Given the description of an element on the screen output the (x, y) to click on. 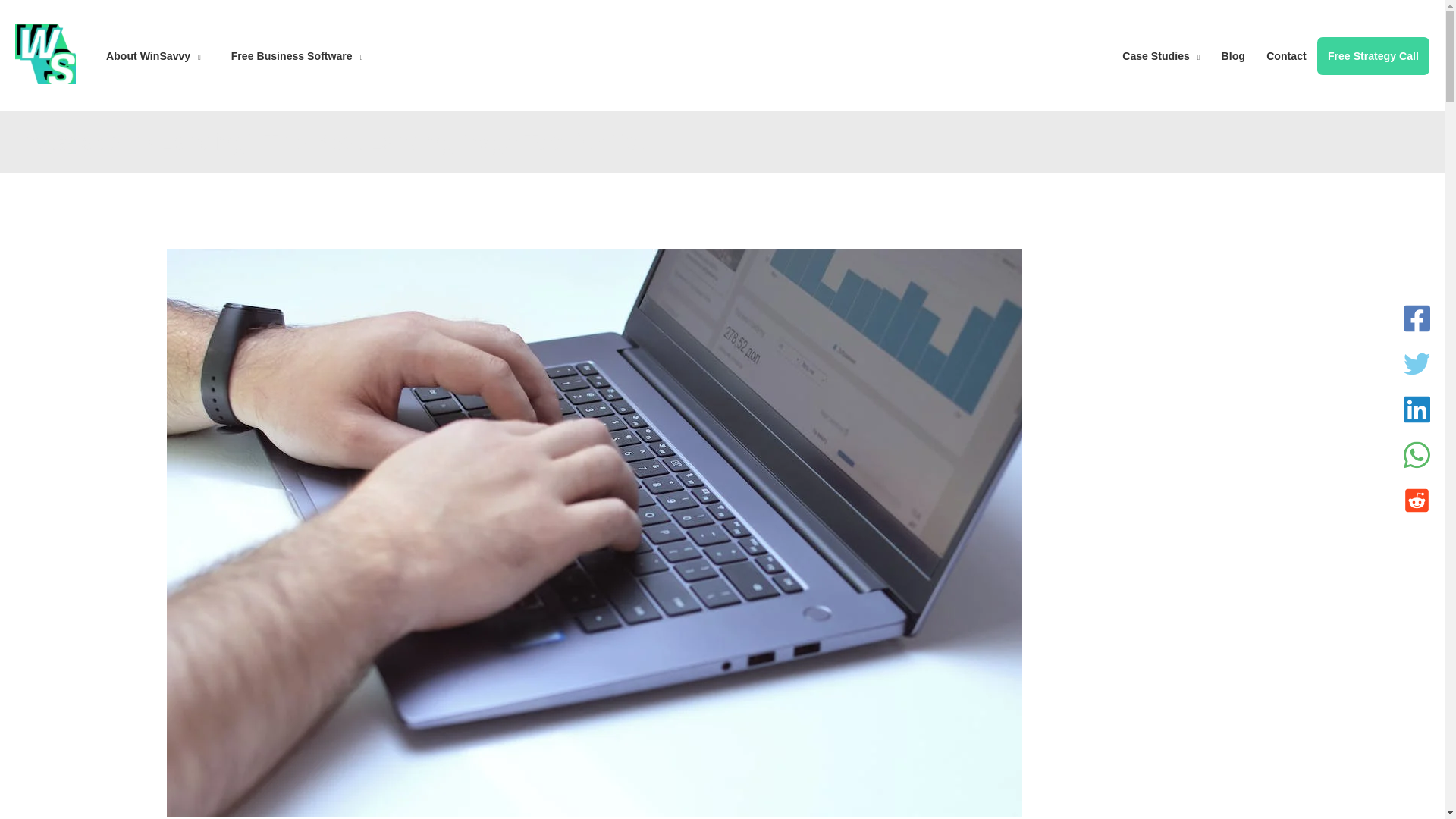
Free Strategy Call (1373, 55)
Blog (1232, 55)
Case Studies (1160, 55)
Free Business Software (296, 55)
Contact (1286, 55)
About WinSavvy (152, 55)
